Given the description of an element on the screen output the (x, y) to click on. 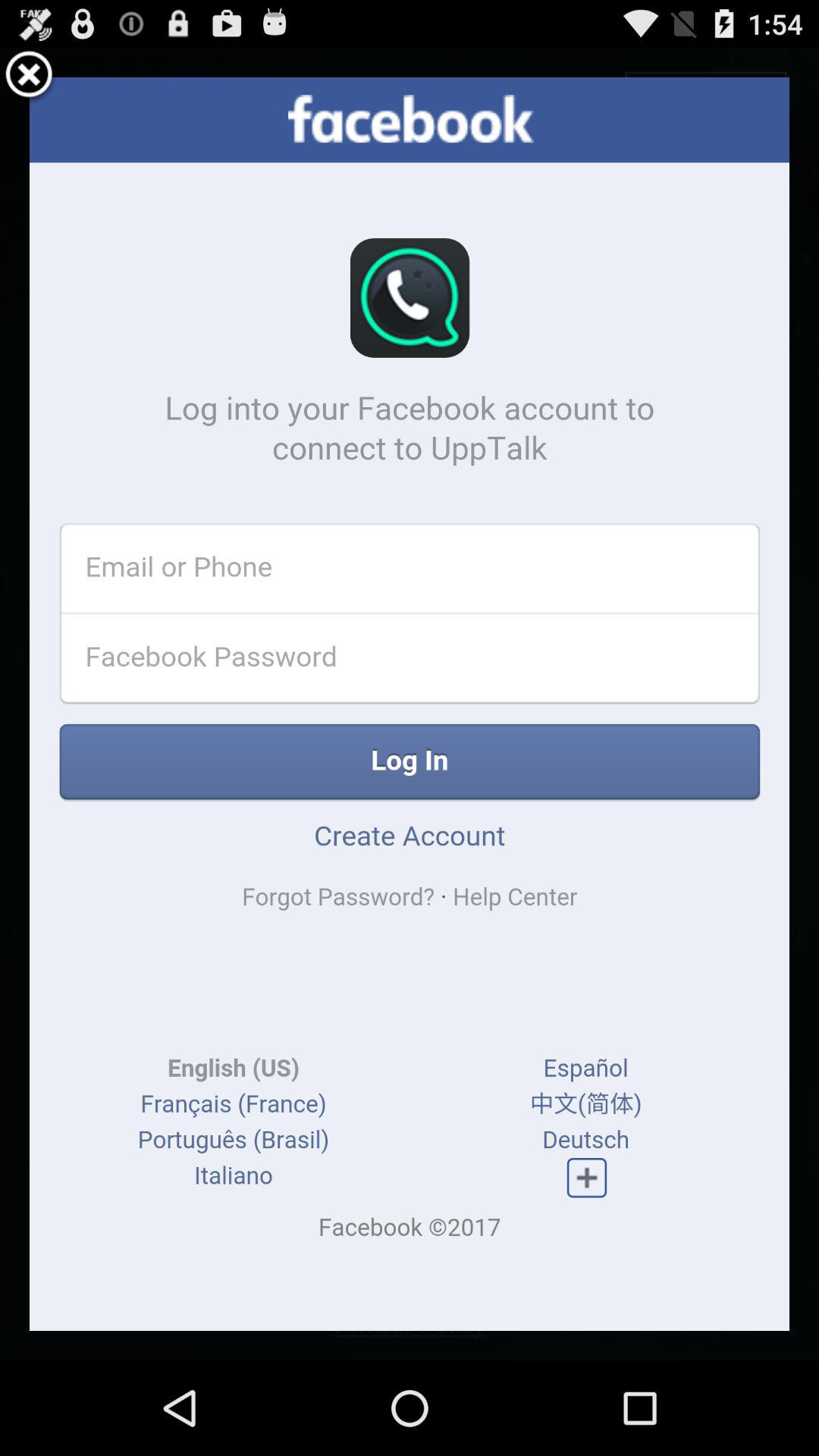
facebook login or create page (409, 703)
